Given the description of an element on the screen output the (x, y) to click on. 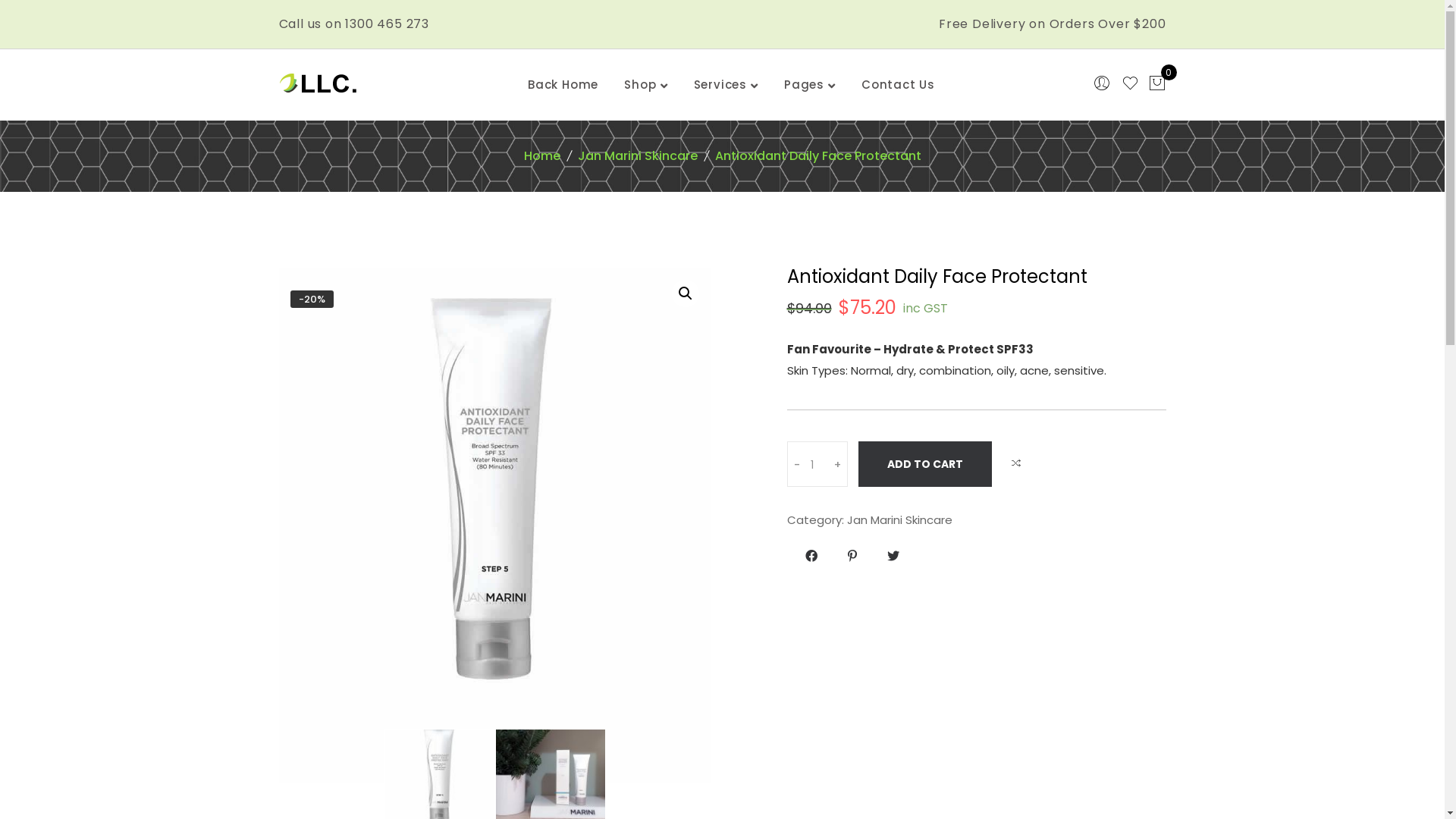
Jan Marini Skincare Element type: text (637, 155)
Contact Us Element type: text (898, 84)
Pages Element type: text (804, 84)
Services Element type: text (719, 84)
Shop Element type: text (639, 84)
0 Element type: text (1157, 84)
Qty Element type: hover (817, 464)
Back Home Element type: text (562, 84)
Jan Marini Skincare Element type: text (898, 519)
Home Element type: text (542, 155)
ADD TO CART Element type: text (924, 463)
